Given the description of an element on the screen output the (x, y) to click on. 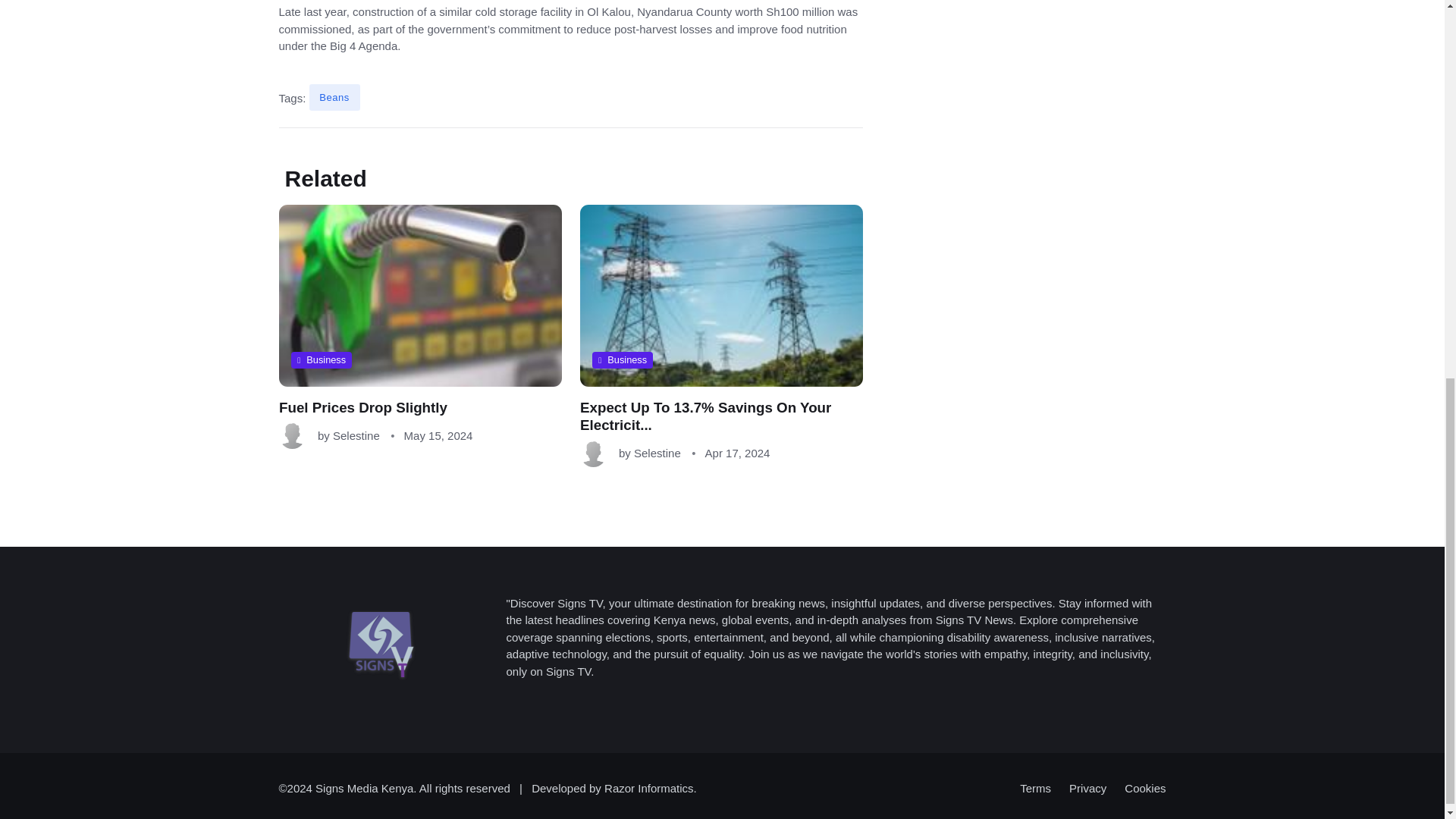
Beans (333, 96)
